Given the description of an element on the screen output the (x, y) to click on. 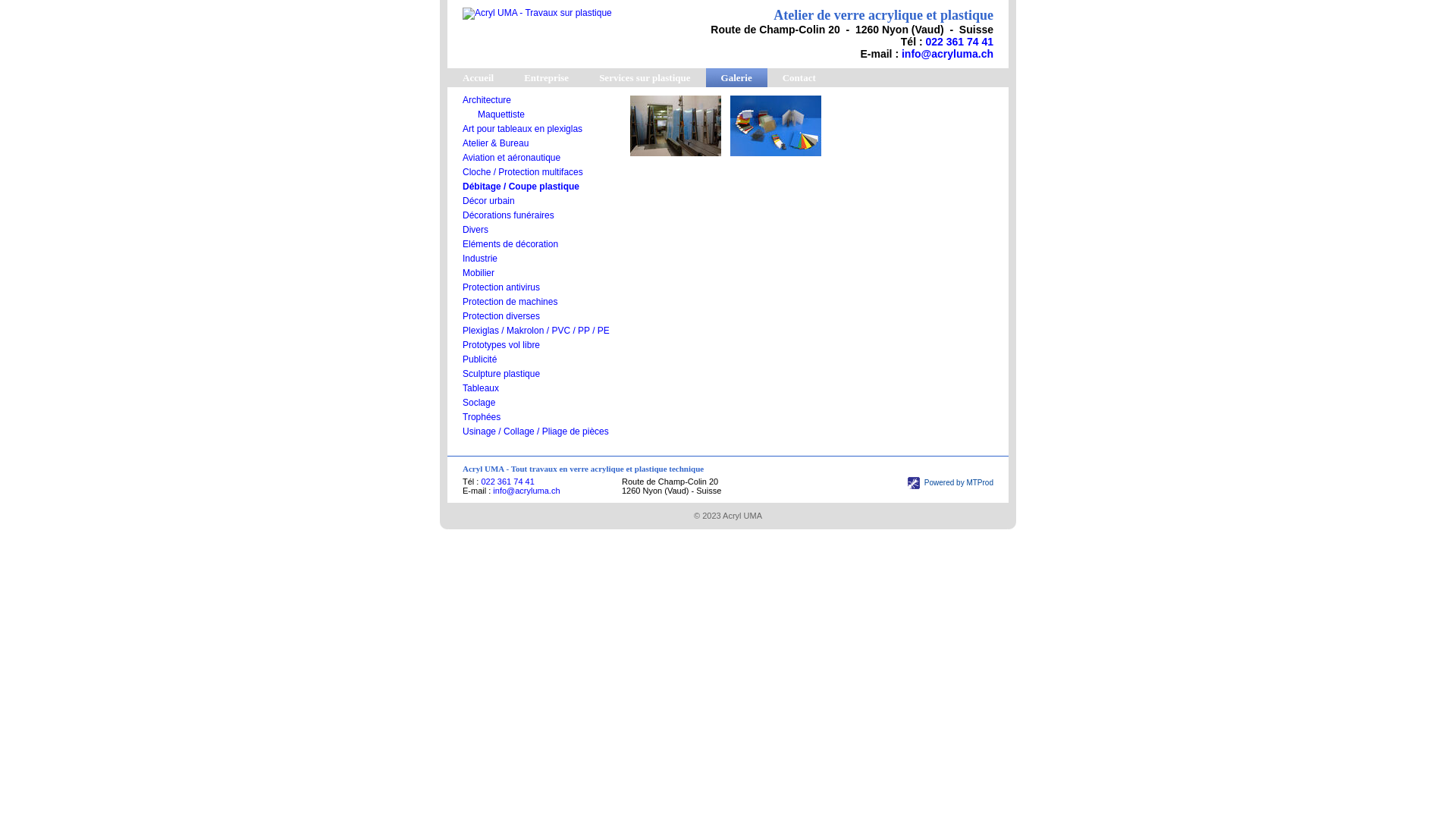
Services sur plastique Element type: text (644, 77)
Soclage Element type: text (478, 402)
Entreprise Element type: text (545, 77)
Acryl UMA - Travaux sur plastique Element type: hover (536, 12)
Tableaux Element type: text (480, 387)
Galerie Element type: text (736, 77)
Accueil Element type: text (477, 77)
Prototypes vol libre Element type: text (500, 344)
Contact Element type: text (799, 77)
info@acryluma.ch Element type: text (947, 53)
Sculpture plastique Element type: text (500, 373)
Industrie Element type: text (479, 258)
Protection diverses Element type: text (500, 315)
Mobilier Element type: text (478, 272)
022 361 74 41 Element type: text (959, 41)
info@acryluma.ch Element type: text (525, 490)
Acryl UMA - Travaux sur plastique Element type: hover (536, 13)
Protection antivirus Element type: text (500, 287)
Plexiglas / Makrolon / PVC / PP / PE Element type: text (535, 330)
Cloche / Protection multifaces Element type: text (522, 171)
Architecture Element type: text (486, 99)
022 361 74 41 Element type: text (506, 481)
Divers Element type: text (475, 229)
Powered by MTProd Element type: text (950, 482)
Atelier & Bureau Element type: text (495, 143)
Art pour tableaux en plexiglas Element type: text (522, 128)
Protection de machines Element type: text (509, 301)
Maquettiste Element type: text (500, 114)
